Given the description of an element on the screen output the (x, y) to click on. 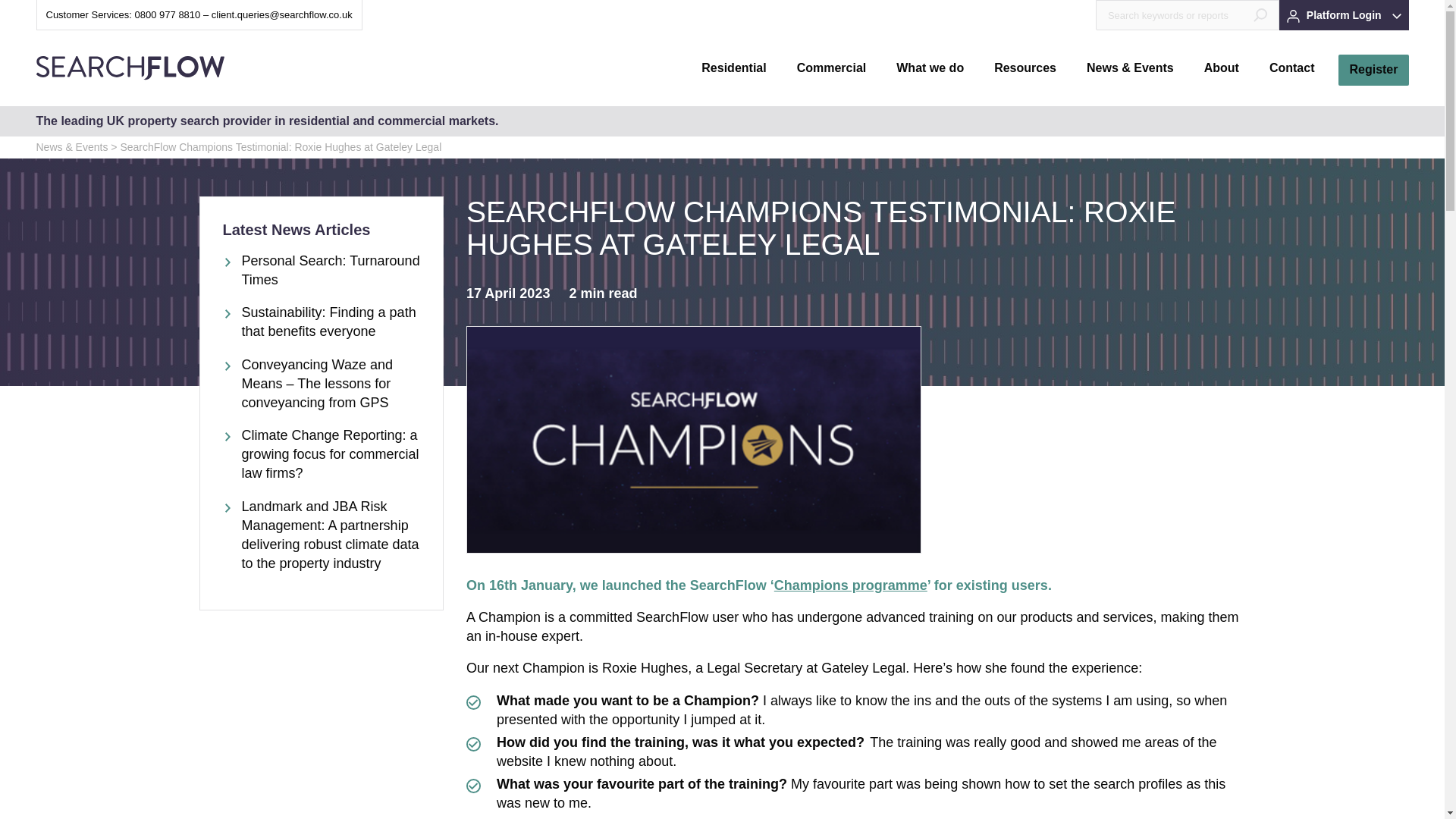
Commercial (831, 68)
What we do (929, 68)
0800 977 8810 (167, 14)
